Given the description of an element on the screen output the (x, y) to click on. 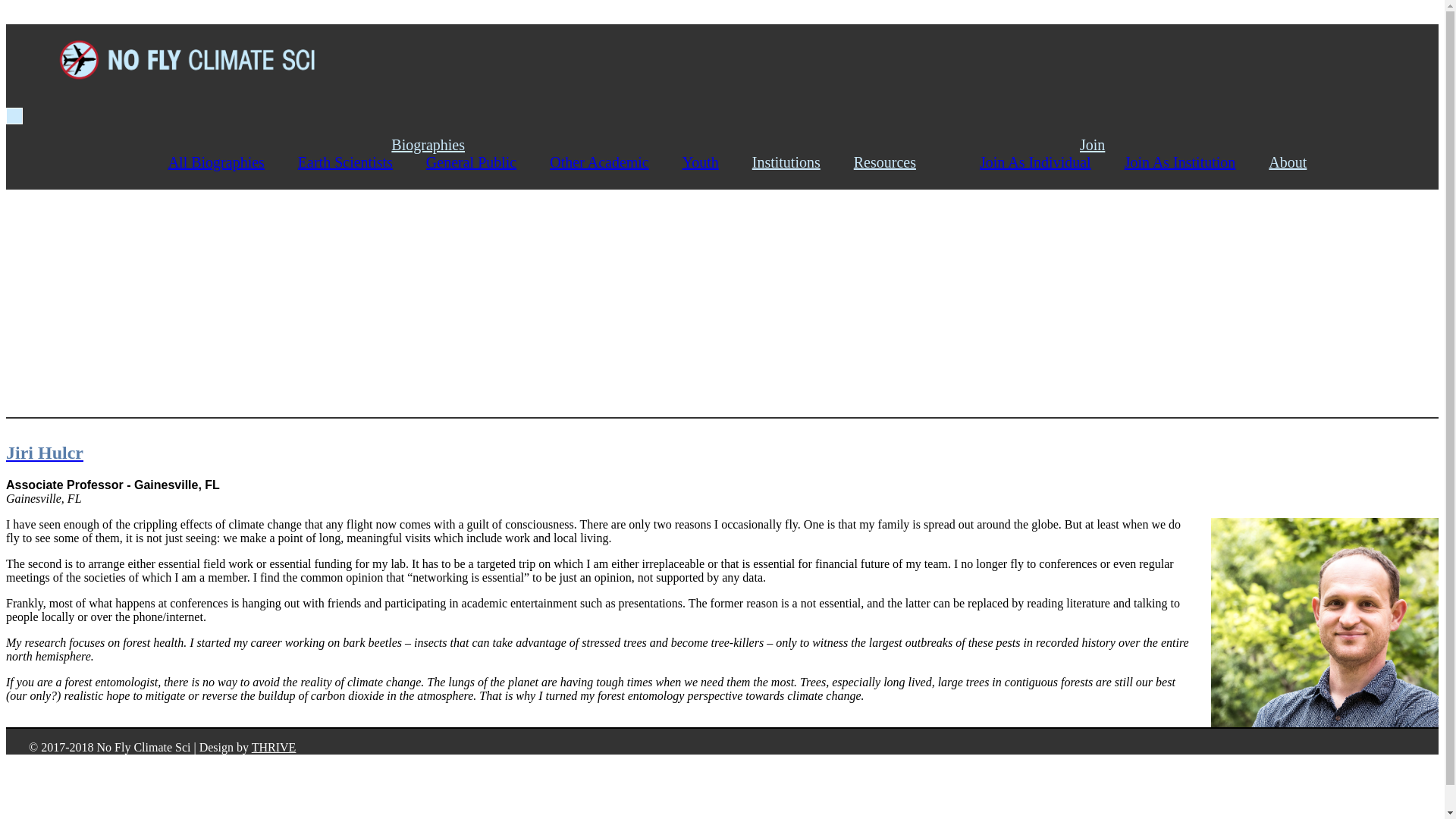
About (1302, 161)
Biographies (443, 144)
Youth (715, 161)
Institutions (801, 161)
Join (1107, 144)
General Public (486, 161)
All Biographies (231, 161)
Join As Institution (1195, 161)
Other Academic (614, 161)
Join (1107, 144)
All Biographies (231, 161)
Earth Scientists (360, 161)
THRIVE (274, 746)
About (1302, 161)
Resources (899, 161)
